Given the description of an element on the screen output the (x, y) to click on. 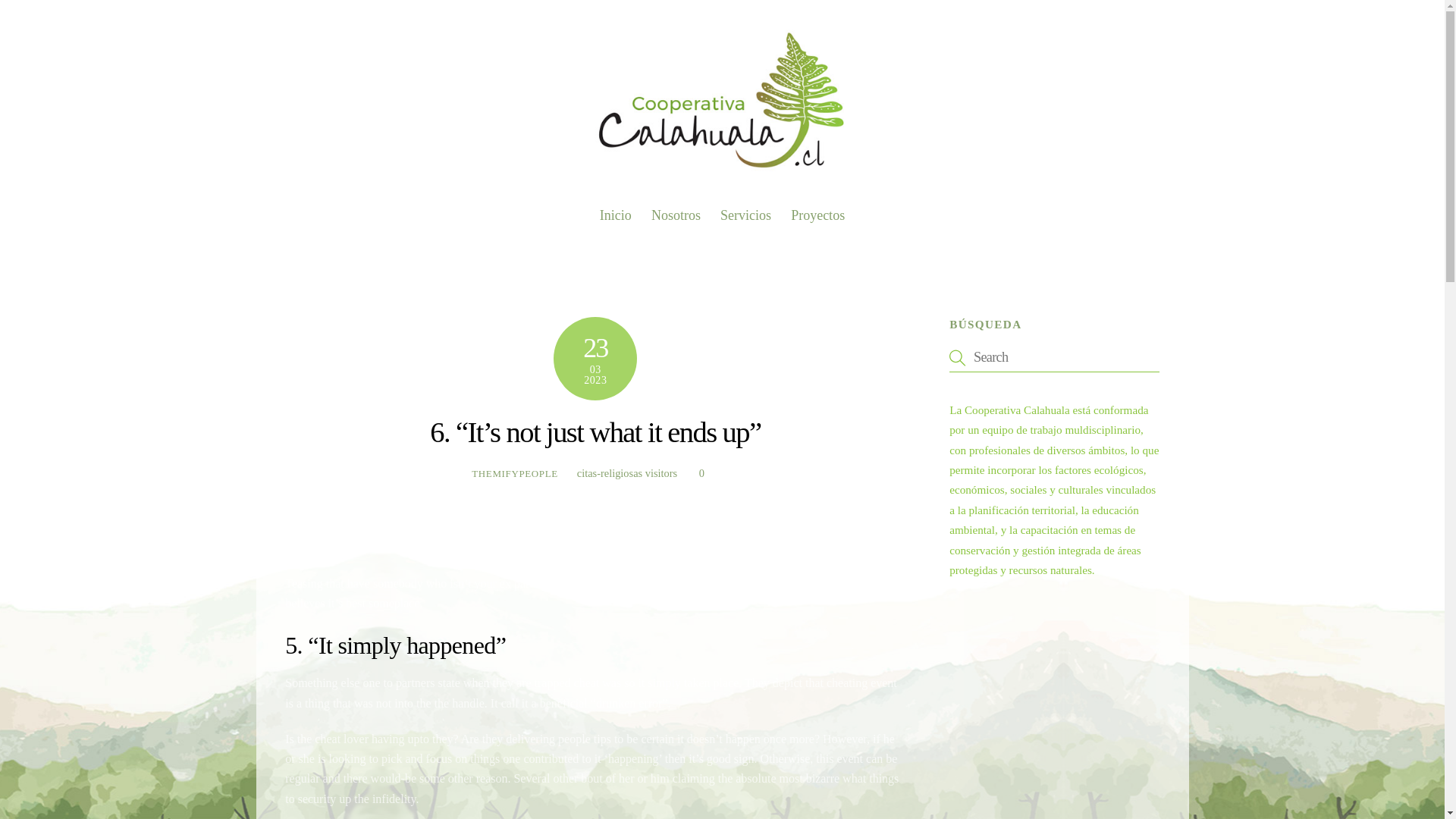
Search (1053, 357)
Cooperativa Calahuala (722, 169)
Nosotros (676, 215)
Servicios (744, 215)
citas-religiosas visitors (721, 209)
Inicio (626, 472)
Proyectos (615, 215)
THEMIFYPEOPLE (818, 215)
0 (514, 473)
